Given the description of an element on the screen output the (x, y) to click on. 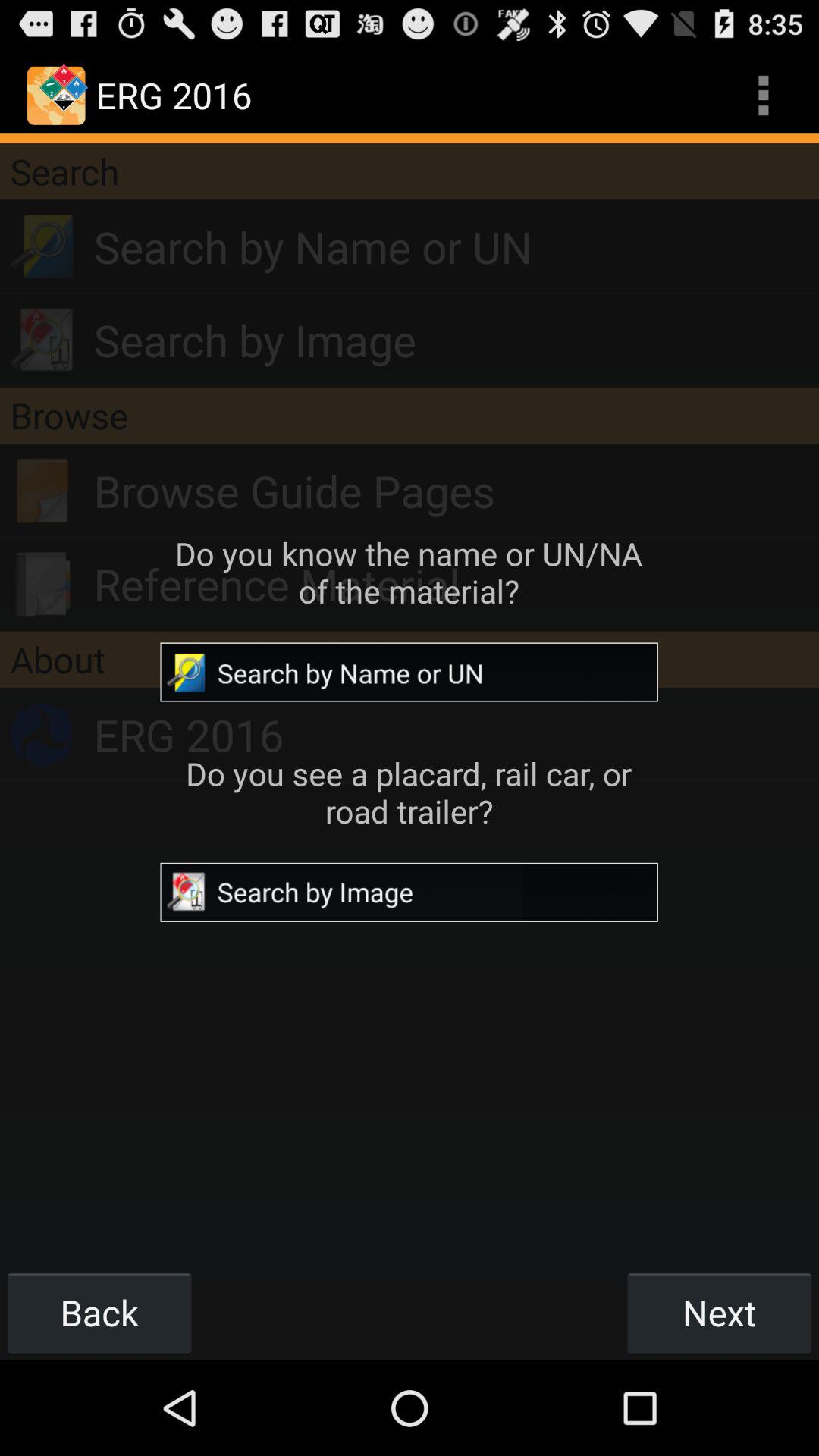
select icon above about app (456, 584)
